Given the description of an element on the screen output the (x, y) to click on. 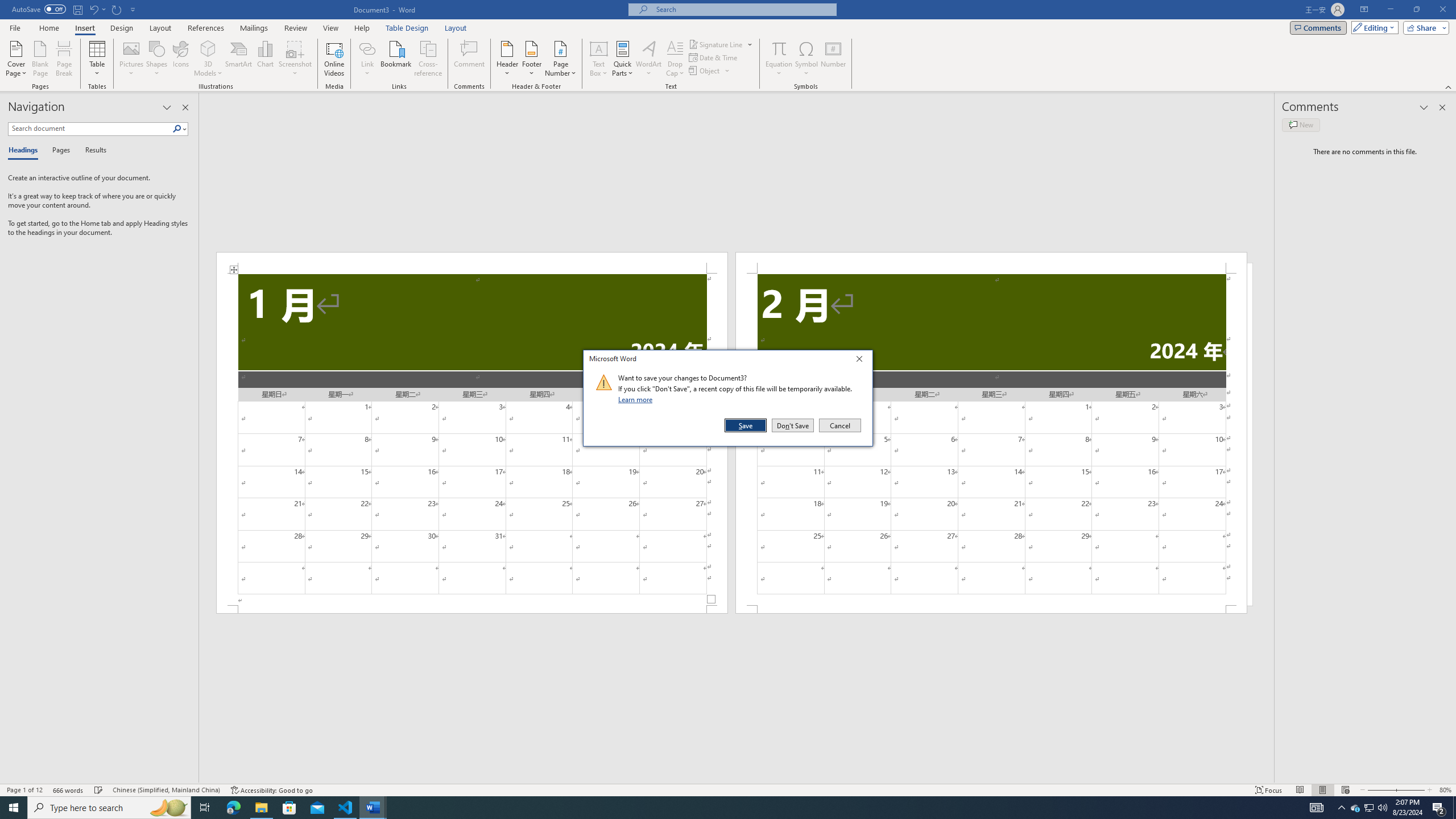
Pages (59, 150)
